Given the description of an element on the screen output the (x, y) to click on. 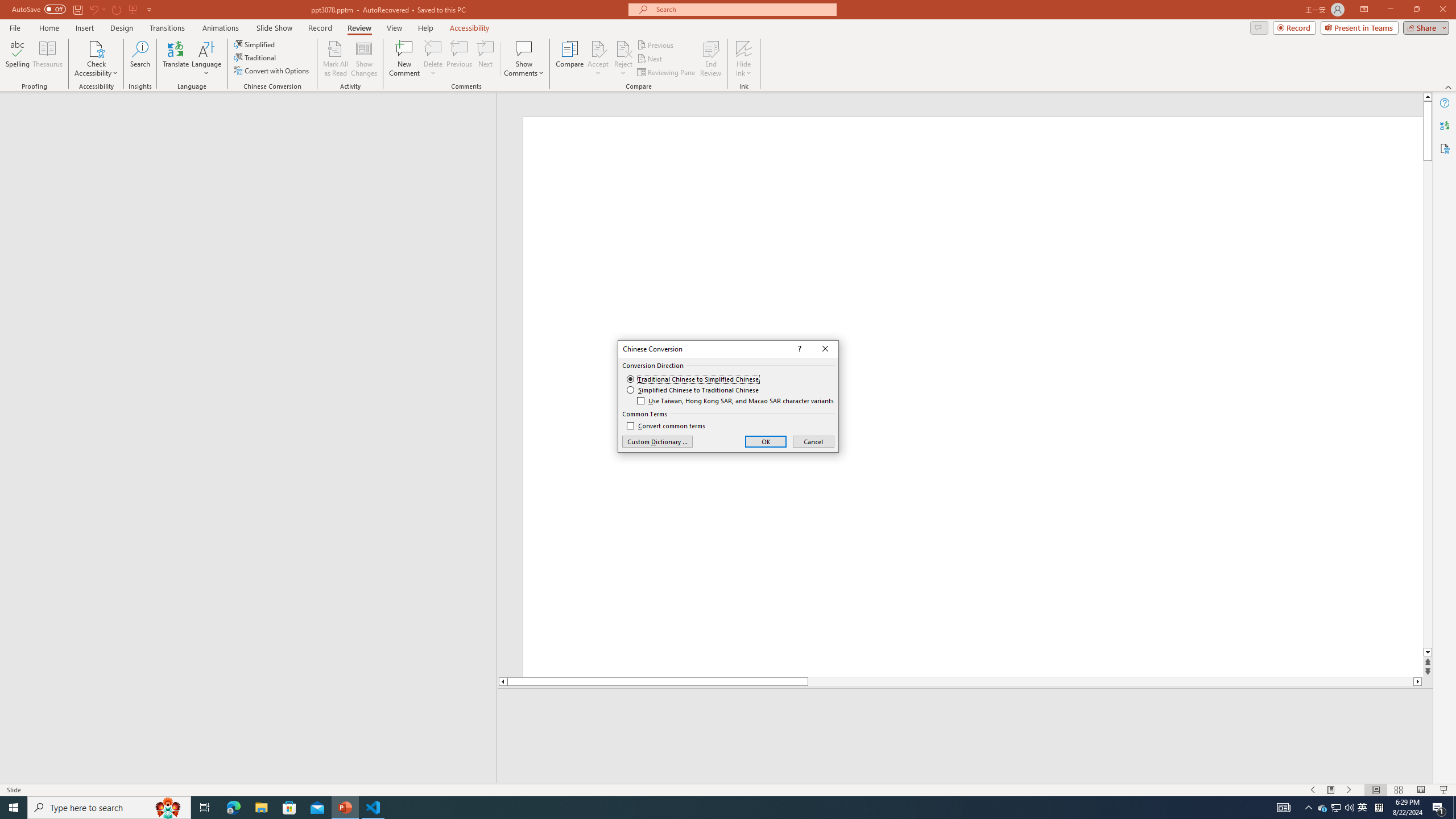
Menu On (1331, 790)
Traditional Chinese to Simplified Chinese (693, 379)
